Given the description of an element on the screen output the (x, y) to click on. 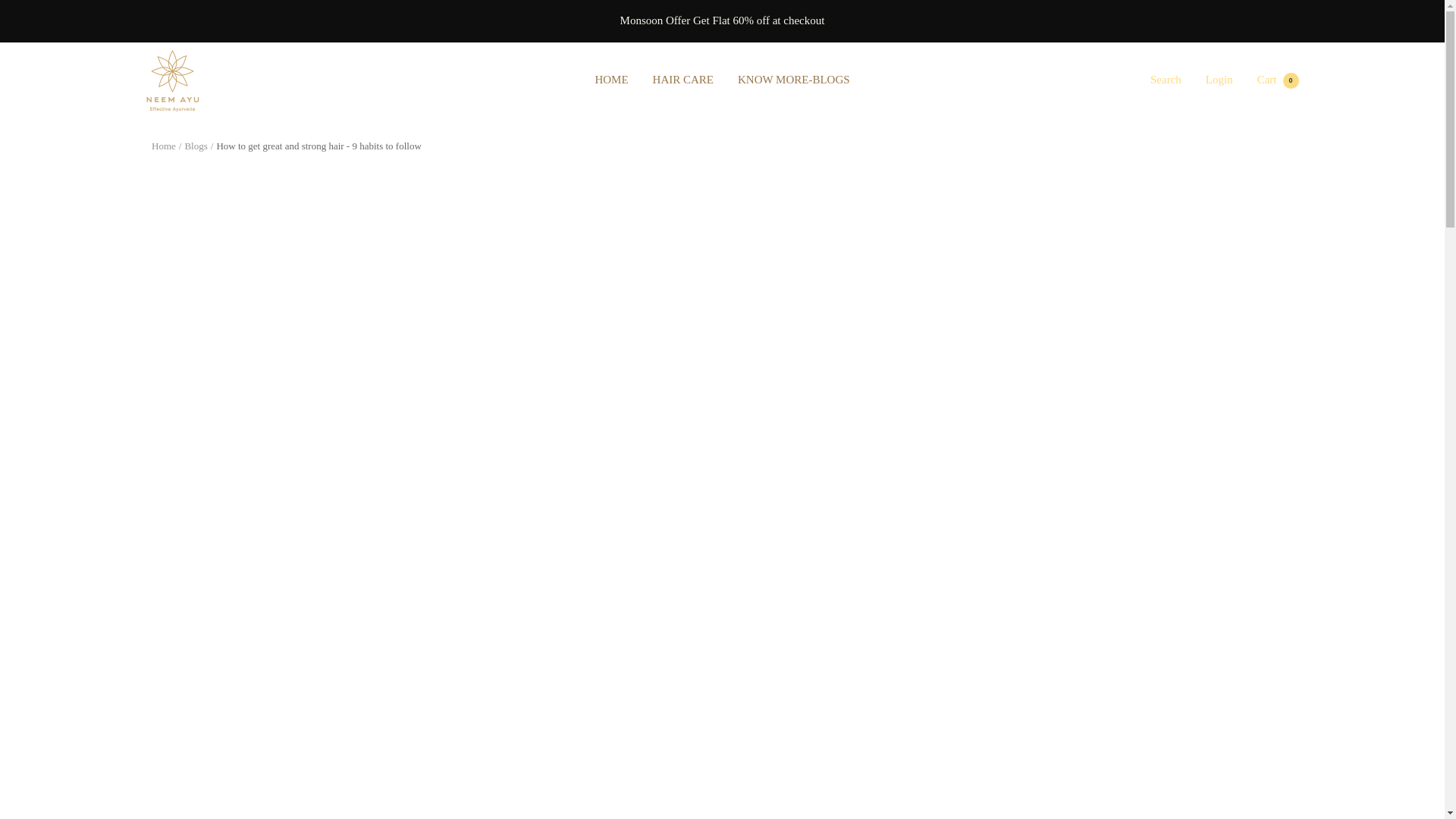
Login (1219, 79)
Home (163, 145)
KNOW MORE-BLOGS (794, 80)
Blogs (195, 145)
Neem Ayu (1277, 79)
Search (171, 80)
HAIR CARE (1165, 79)
HOME (682, 80)
